Given the description of an element on the screen output the (x, y) to click on. 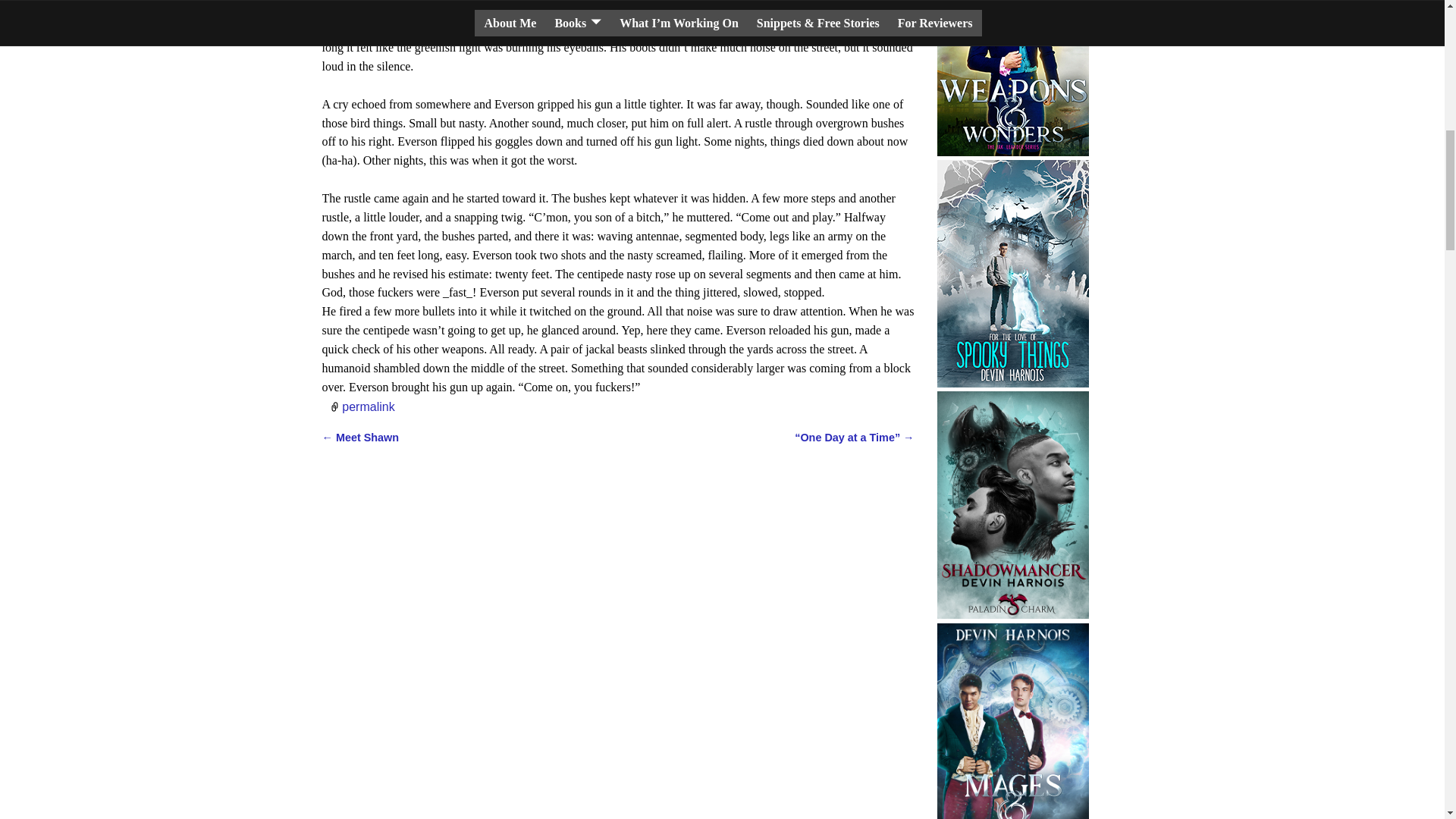
permalink (368, 405)
